Given the description of an element on the screen output the (x, y) to click on. 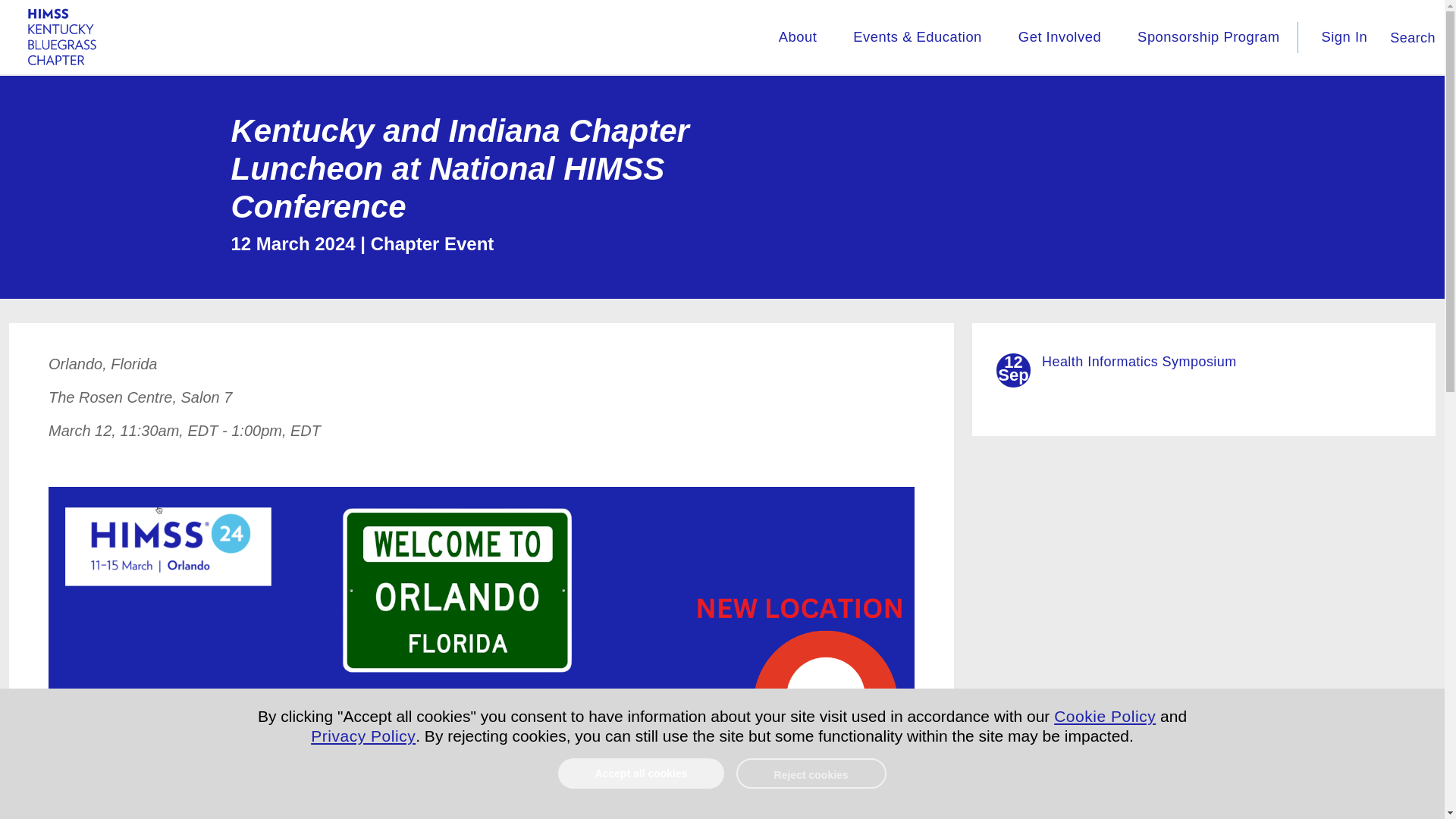
Himss.org (61, 37)
